Given the description of an element on the screen output the (x, y) to click on. 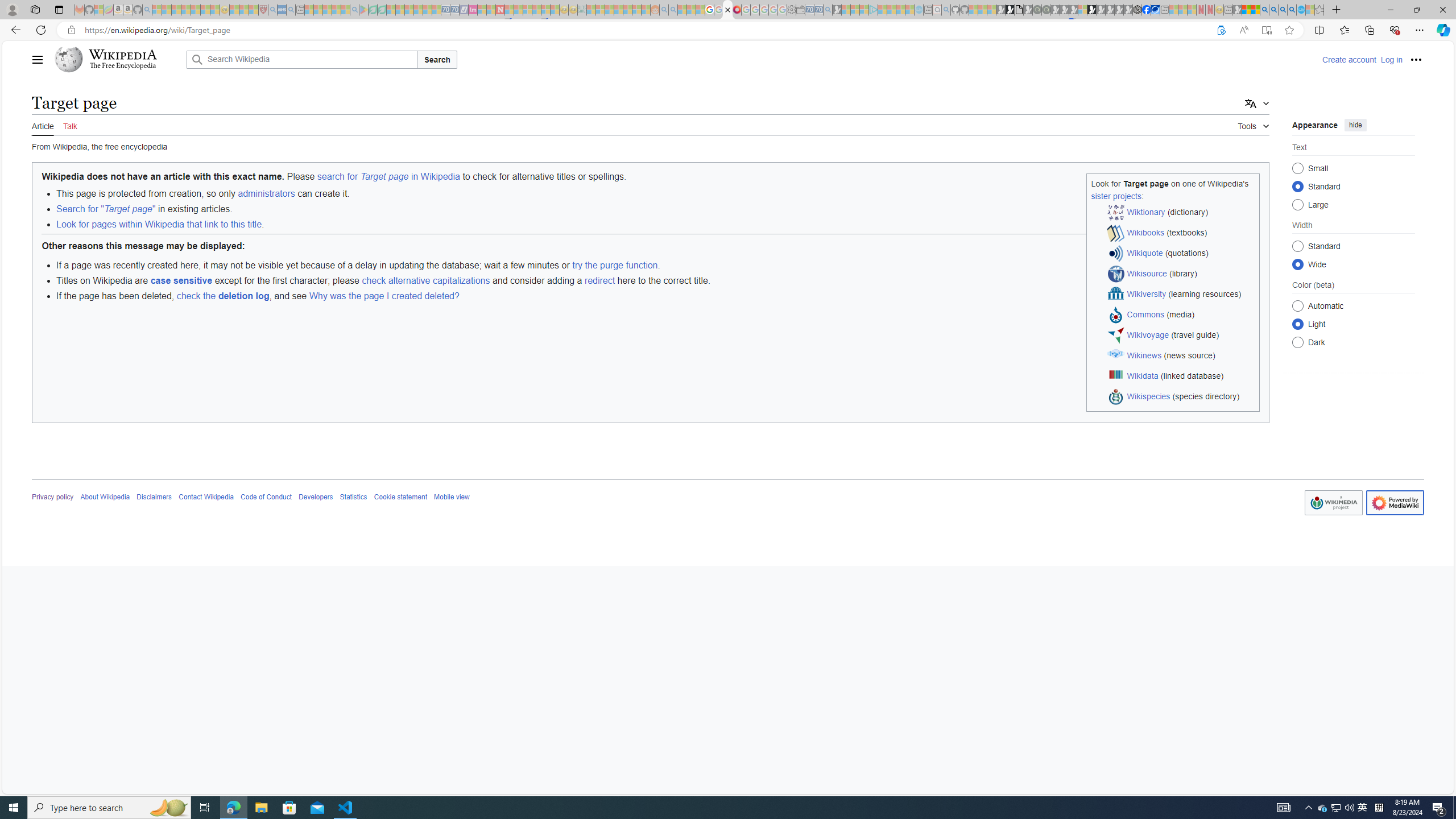
Terms of Use Agreement - Sleeping (372, 9)
DITOGAMES AG Imprint - Sleeping (581, 9)
Microsoft Start Gaming - Sleeping (836, 9)
try the purge function (615, 264)
Dark (1297, 341)
Code of Conduct (265, 497)
Settings - Sleeping (790, 9)
Create account (1348, 58)
Cookie statement (400, 496)
Jobs - lastminute.com Investor Portal - Sleeping (472, 9)
